Given the description of an element on the screen output the (x, y) to click on. 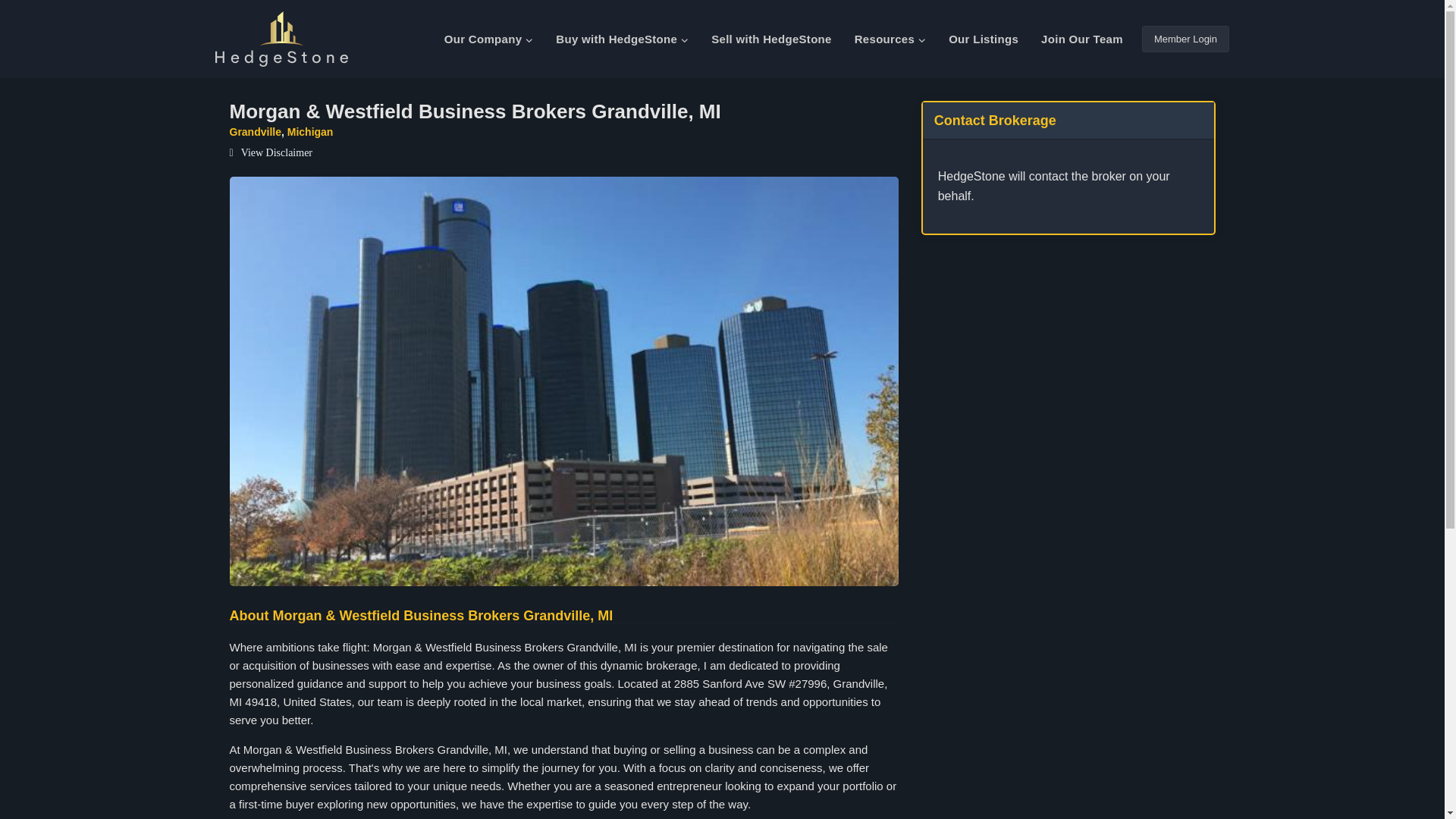
Our Company (488, 38)
Buy with HedgeStone (622, 38)
Resources (890, 38)
Grandville (254, 132)
Our Listings (983, 38)
Join Our Team (1081, 38)
View Disclaimer (270, 152)
Sell with HedgeStone (771, 38)
Member Login (1184, 38)
Michigan (309, 132)
